Given the description of an element on the screen output the (x, y) to click on. 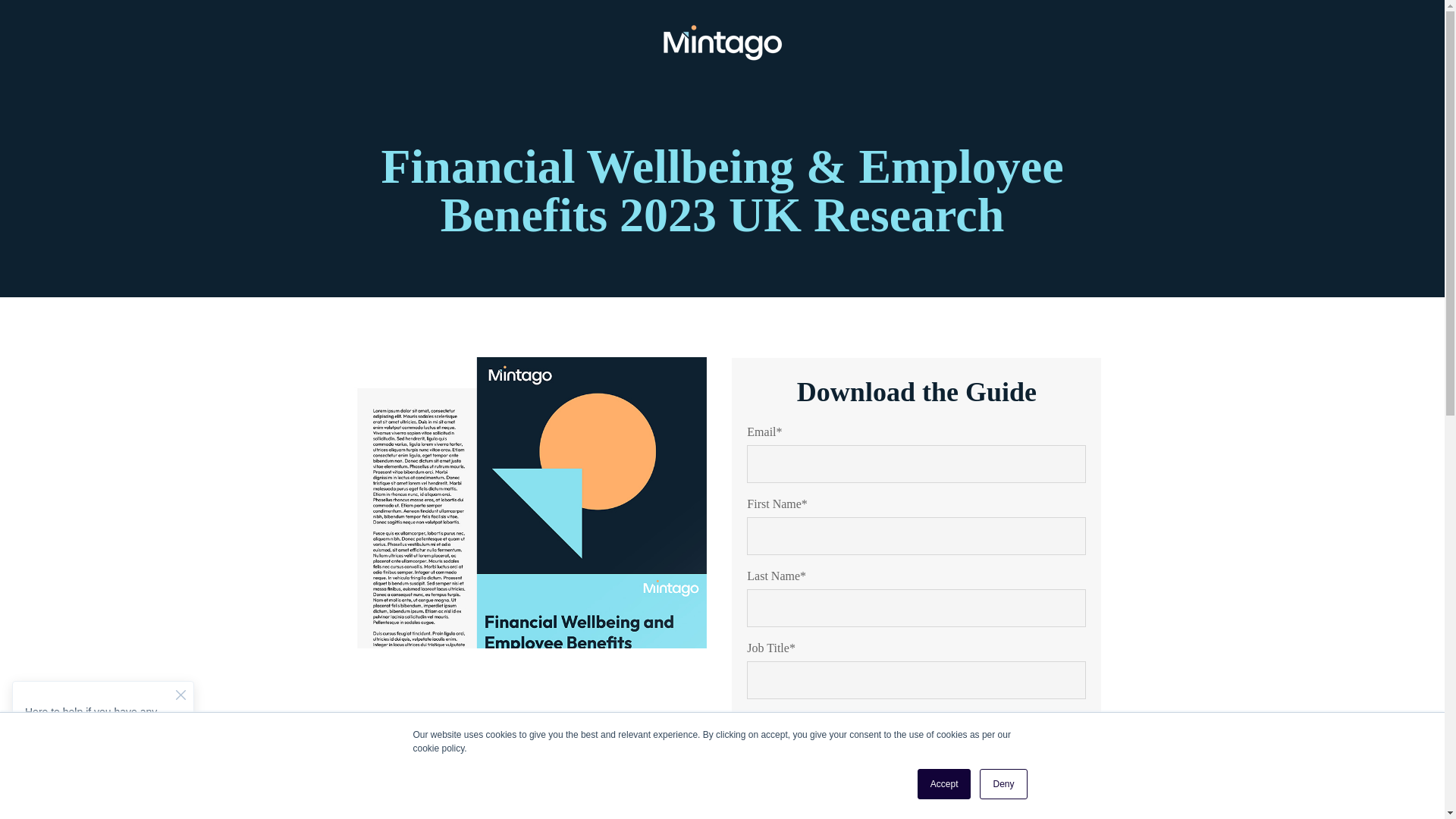
Deny (1002, 784)
Accept (944, 784)
Chat Widget (103, 734)
